Given the description of an element on the screen output the (x, y) to click on. 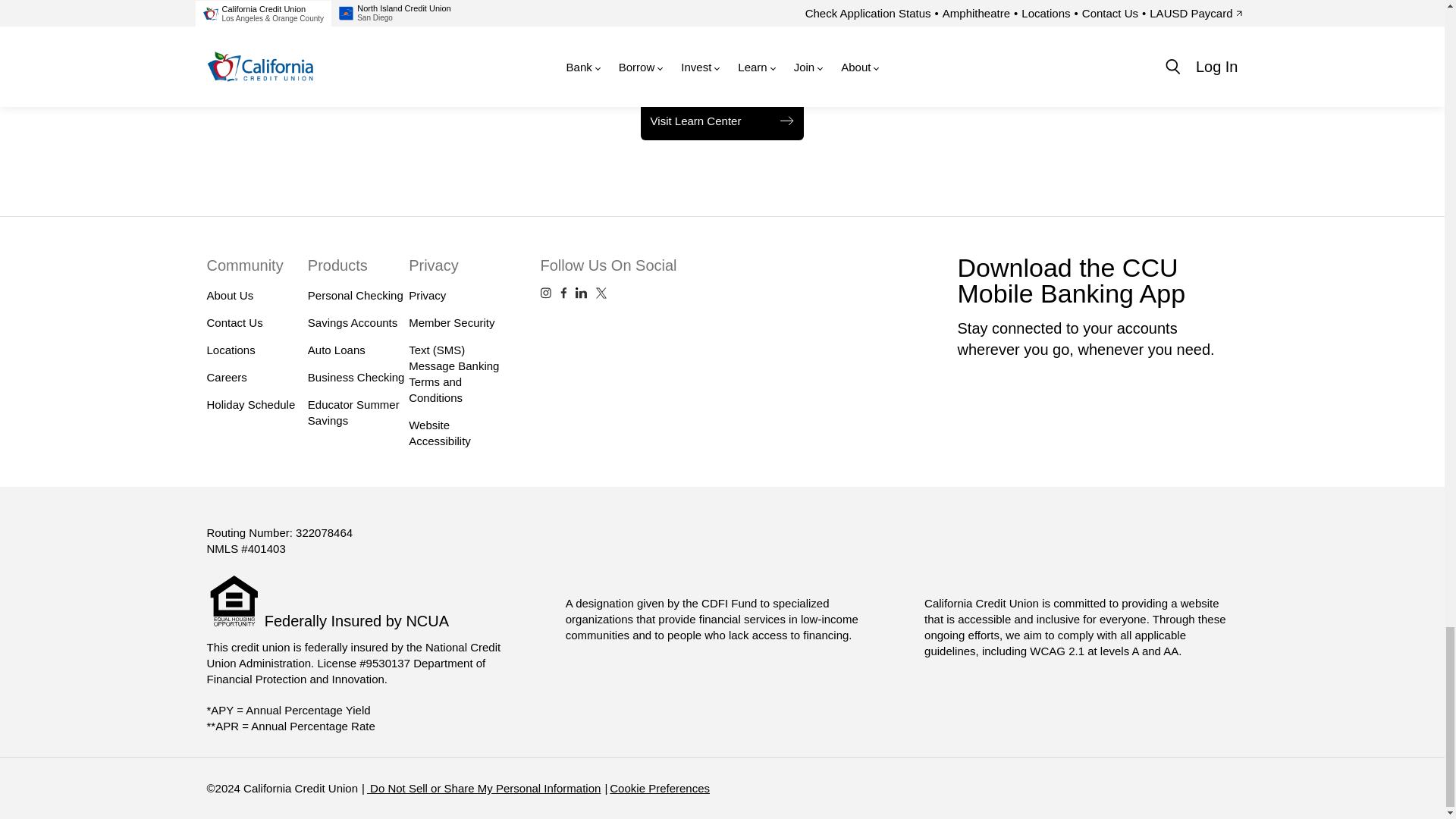
Visit Learn Center (722, 120)
